Given the description of an element on the screen output the (x, y) to click on. 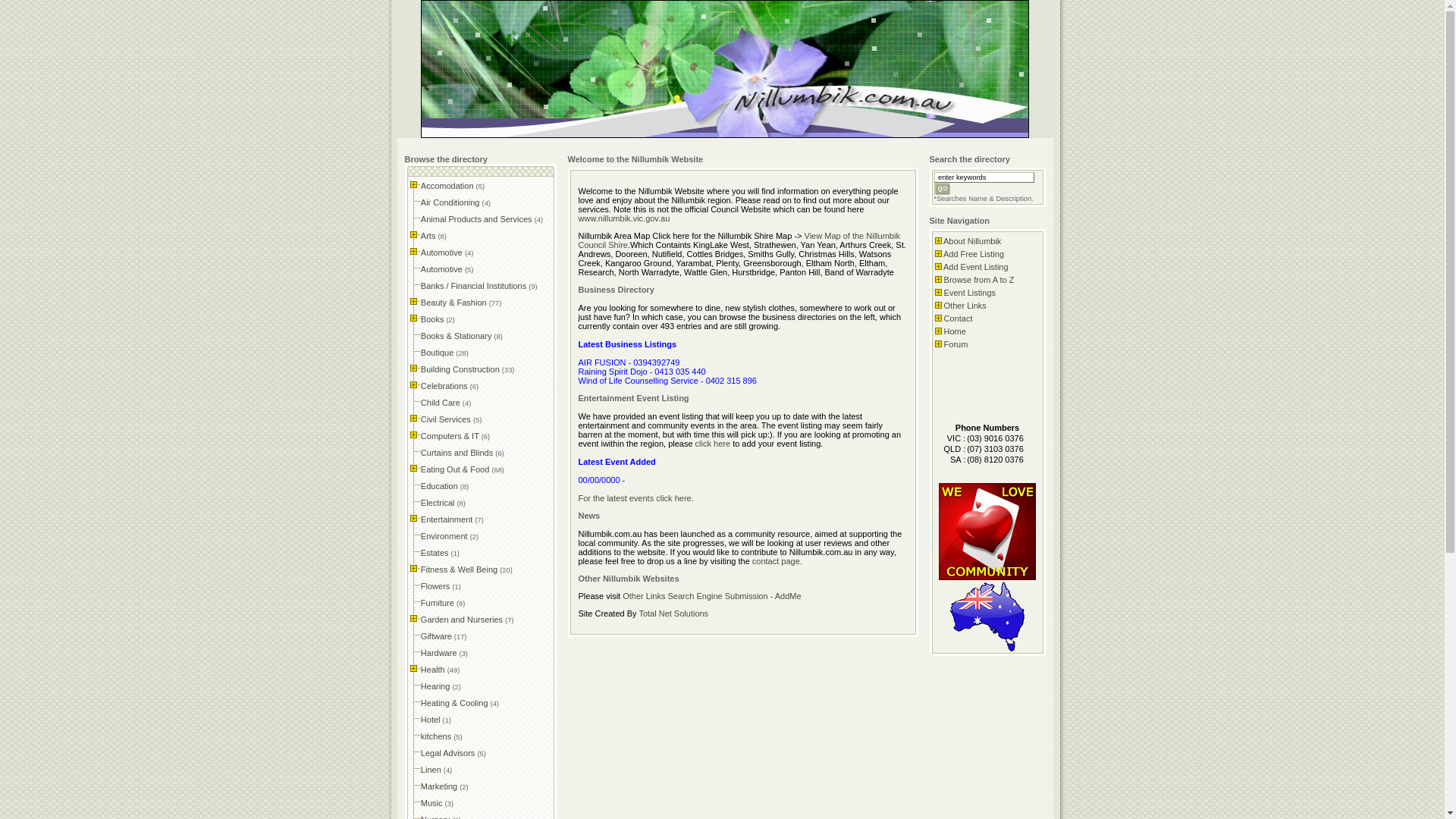
www.nillumbik.vic.gov.au Element type: text (623, 217)
Civil Services Element type: text (446, 418)
Automotive Element type: text (442, 252)
Hearing Element type: text (436, 685)
Banks / Financial Institutions Element type: text (474, 285)
 enter keywords  Element type: text (984, 177)
Furniture Element type: text (438, 602)
Other Links Element type: text (965, 305)
Browse from A to Z Element type: text (979, 279)
Heating & Cooling Element type: text (455, 702)
Health Element type: text (433, 669)
Fitness & Well Being Element type: text (459, 569)
Total Net Solutions Element type: text (673, 613)
Other Links Element type: text (643, 595)
Garden and Nurseries Element type: text (462, 619)
Marketing Element type: text (439, 785)
Automotive Element type: text (442, 268)
For the latest events click here. Element type: text (635, 497)
kitchens Element type: text (436, 735)
Animal Products and Services Element type: text (477, 218)
Entertainment Element type: text (447, 519)
About Nillumbik Element type: text (972, 240)
Forum Element type: text (956, 343)
Contact Element type: text (958, 318)
Add Free Listing Element type: text (973, 253)
Books Element type: text (433, 318)
Boutique Element type: text (437, 352)
Building Construction Element type: text (461, 368)
Curtains and Blinds Element type: text (457, 452)
Hotel Element type: text (431, 719)
Estates Element type: text (435, 552)
contact page. Element type: text (777, 560)
Event Listings Element type: text (969, 292)
Add Event Listing Element type: text (975, 266)
Legal Advisors Element type: text (448, 752)
Hardware Element type: text (439, 652)
Eating Out & Food Element type: text (456, 468)
Giftware Element type: text (437, 635)
Flowers Element type: text (436, 585)
Search Engine Submission - AddMe Element type: text (734, 595)
Beauty & Fashion Element type: text (454, 302)
Environment Element type: text (445, 535)
Linen Element type: text (431, 769)
Education Element type: text (440, 485)
Celebrations Element type: text (445, 385)
View Map of the Nillumbik Council Shire Element type: text (738, 240)
Arts Element type: text (429, 235)
Electrical Element type: text (438, 502)
Home Element type: text (955, 330)
Books & Stationary Element type: text (457, 335)
Child Care Element type: text (441, 402)
click here Element type: text (712, 443)
Music Element type: text (432, 802)
Computers & IT Element type: text (450, 435)
Air Conditioning Element type: text (451, 202)
Accomodation Element type: text (448, 185)
